Given the description of an element on the screen output the (x, y) to click on. 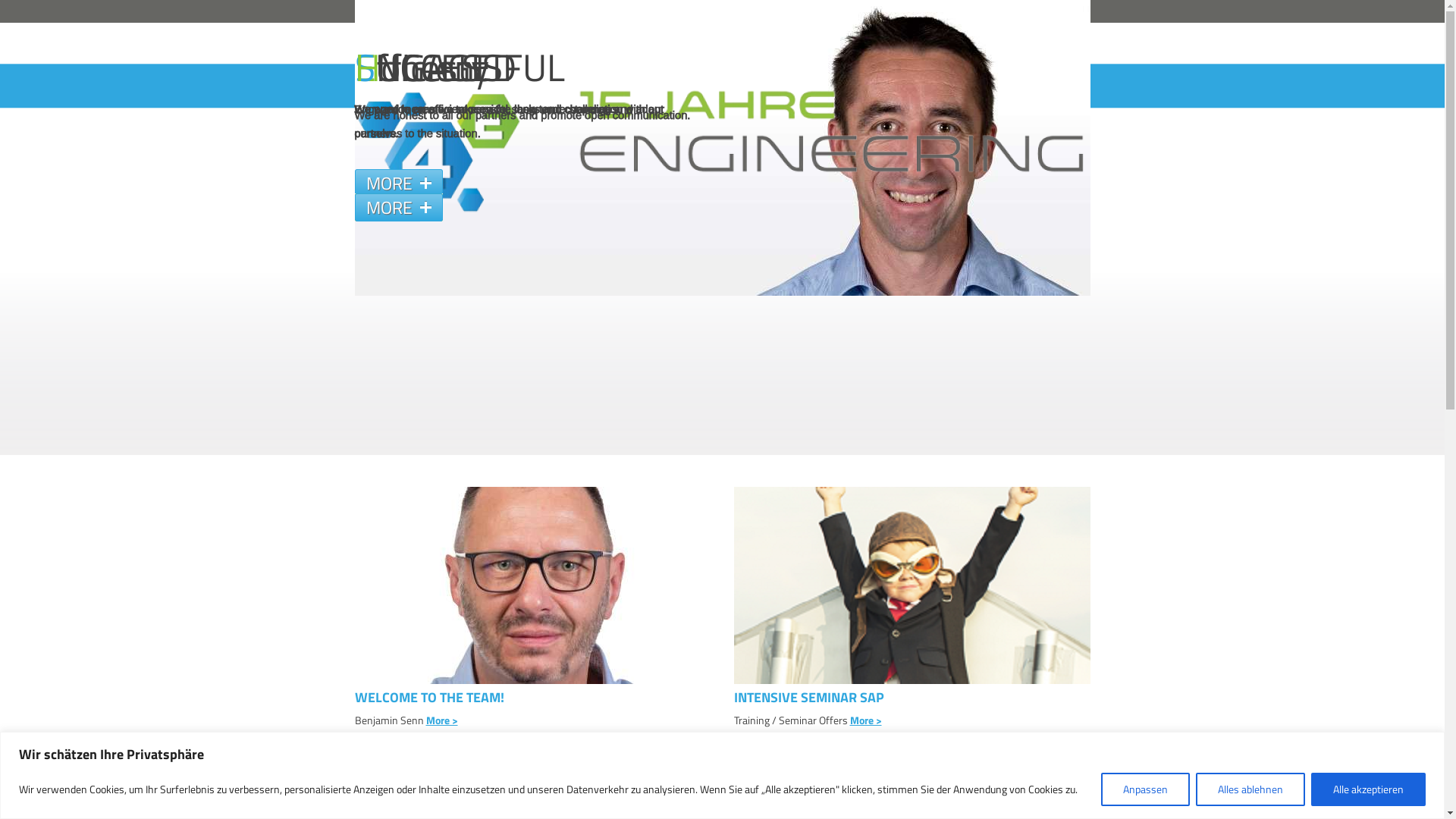
Offer Element type: text (492, 85)
Anpassen Element type: text (1145, 788)
MORE Element type: text (398, 207)
Career Element type: text (1069, 85)
Alles ablehnen Element type: text (1250, 788)
More > Element type: text (442, 720)
WELCOME TO THE TEAM! Element type: text (532, 697)
Business Element type: text (382, 85)
More > Element type: text (865, 720)
Alle akzeptieren Element type: text (1368, 788)
MORE Element type: text (398, 183)
EN Element type: text (944, 10)
About us Element type: text (978, 85)
INTENSIVE SEMINAR SAP Element type: text (912, 697)
DE Element type: text (921, 10)
References Element type: text (872, 85)
News Element type: text (590, 85)
Home Element type: text (367, 10)
